Given the description of an element on the screen output the (x, y) to click on. 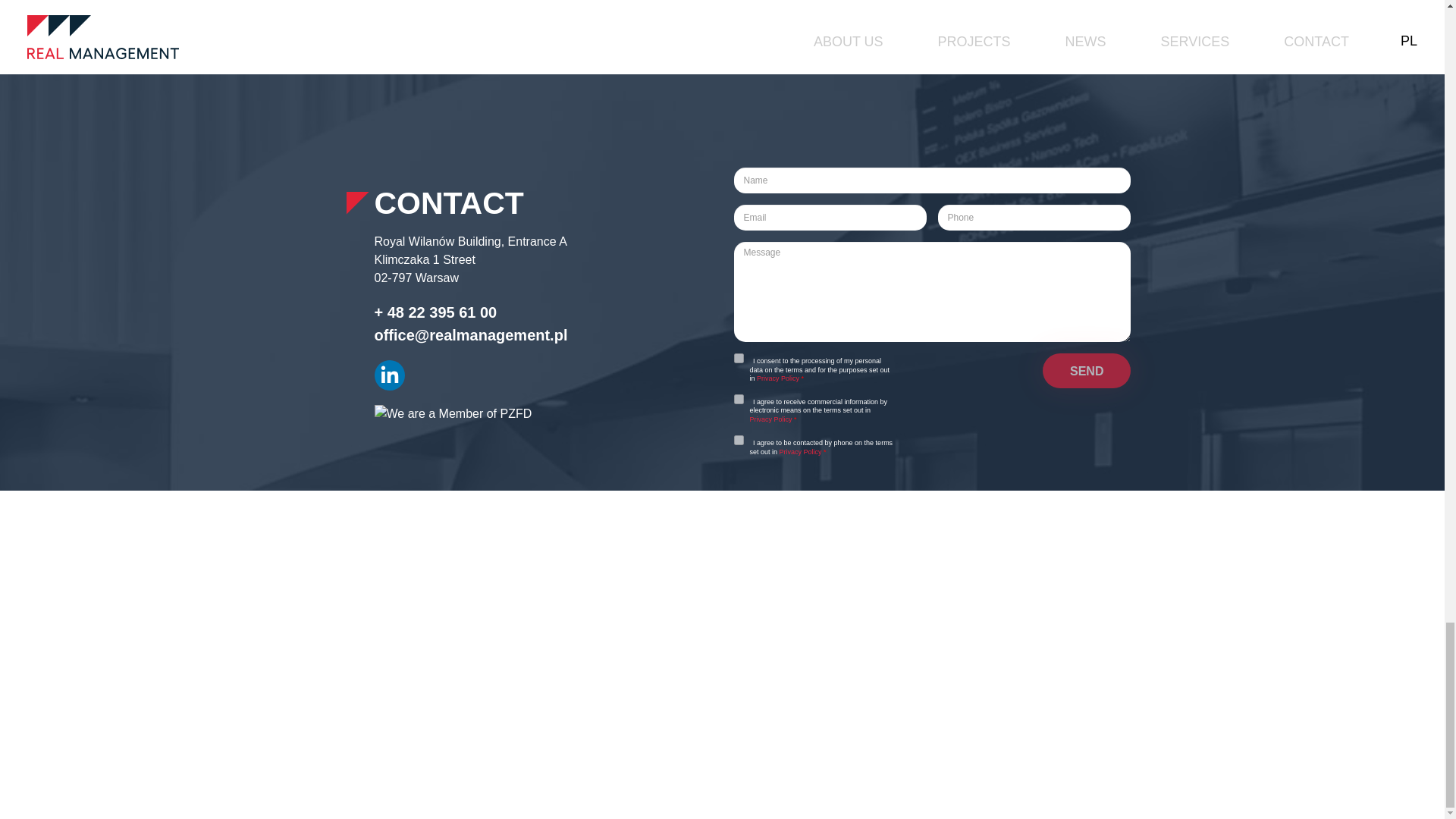
Send (1086, 370)
Privacy Policy (801, 451)
Send (1086, 370)
Privacy Policy (779, 378)
1 (738, 439)
Privacy Policy (779, 378)
Privacy Policy (771, 419)
1 (738, 357)
Privacy Policy (801, 451)
1 (738, 398)
Privacy Policy (771, 419)
